Given the description of an element on the screen output the (x, y) to click on. 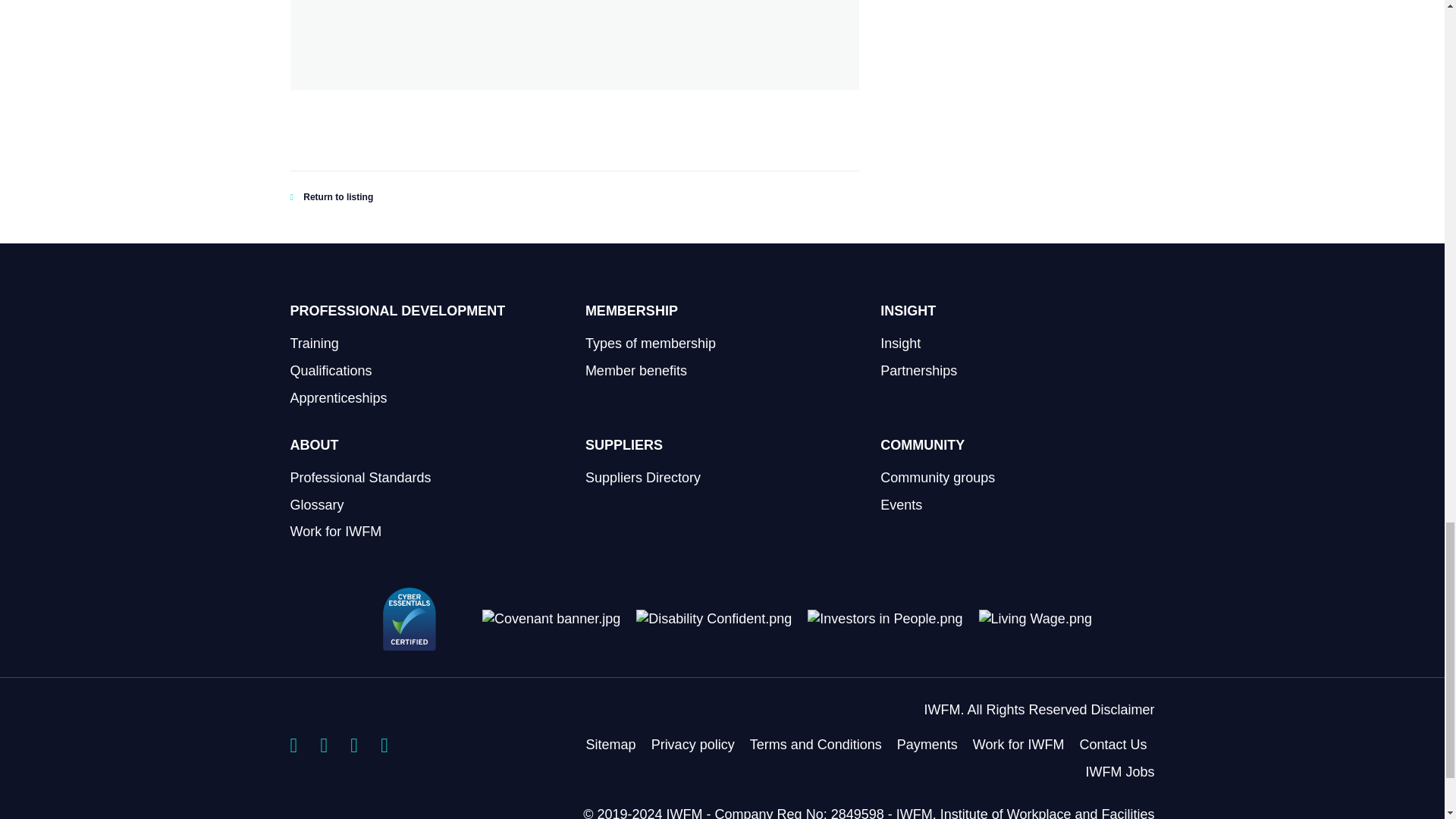
Work for IWFM (1018, 744)
Types of membership (650, 343)
Book now (600, 3)
Privacy policy (692, 744)
Glossary (316, 504)
Professional Standards (359, 477)
Events (900, 504)
Community groups (937, 477)
Contact Us (1112, 744)
Payments (927, 744)
IWFM Jobs (1119, 771)
Member benefits (636, 370)
Sitemap (611, 744)
Work for IWFM (335, 531)
Suppliers Directory (642, 477)
